Given the description of an element on the screen output the (x, y) to click on. 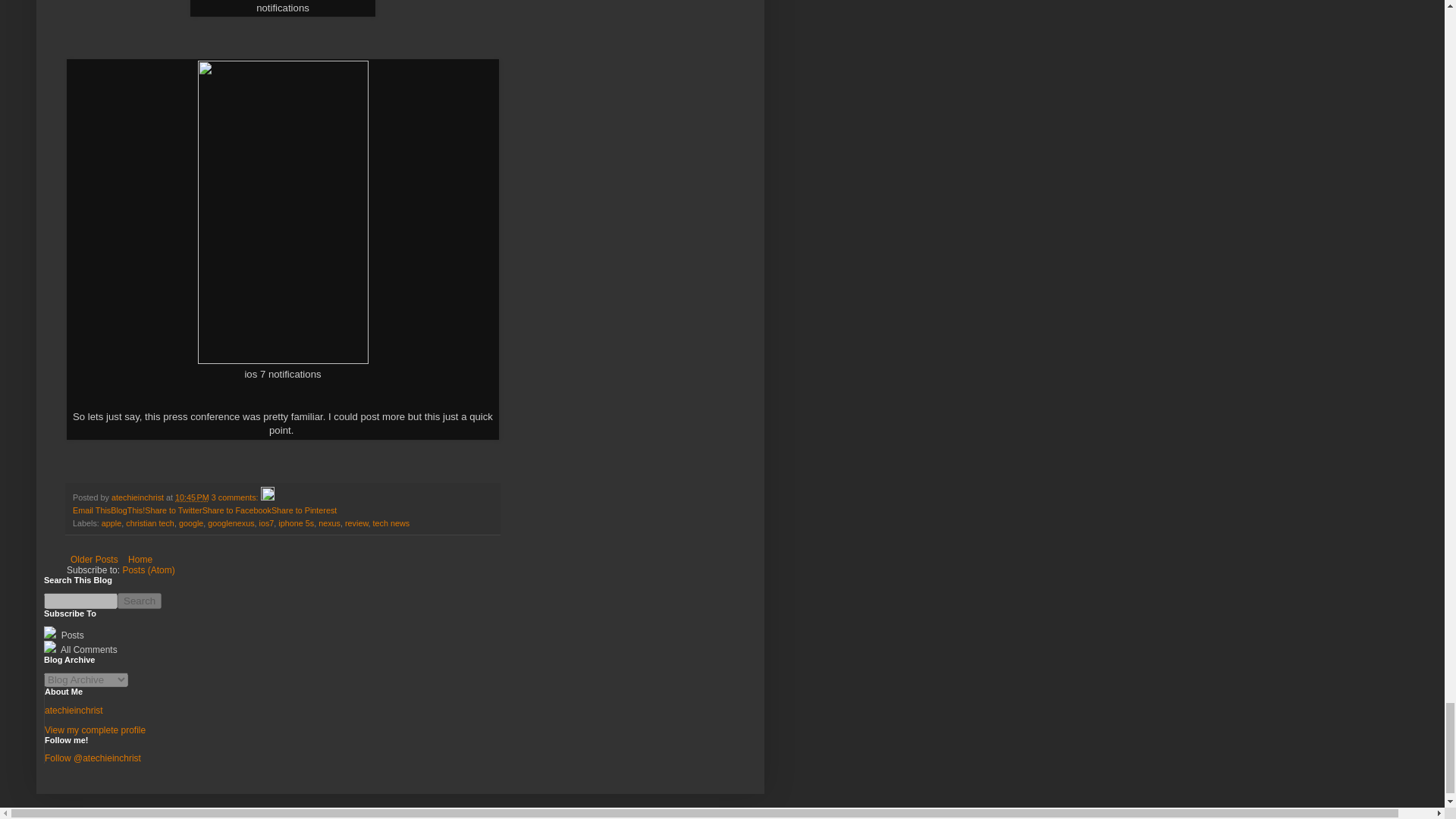
Search (139, 600)
Search (139, 600)
